Given the description of an element on the screen output the (x, y) to click on. 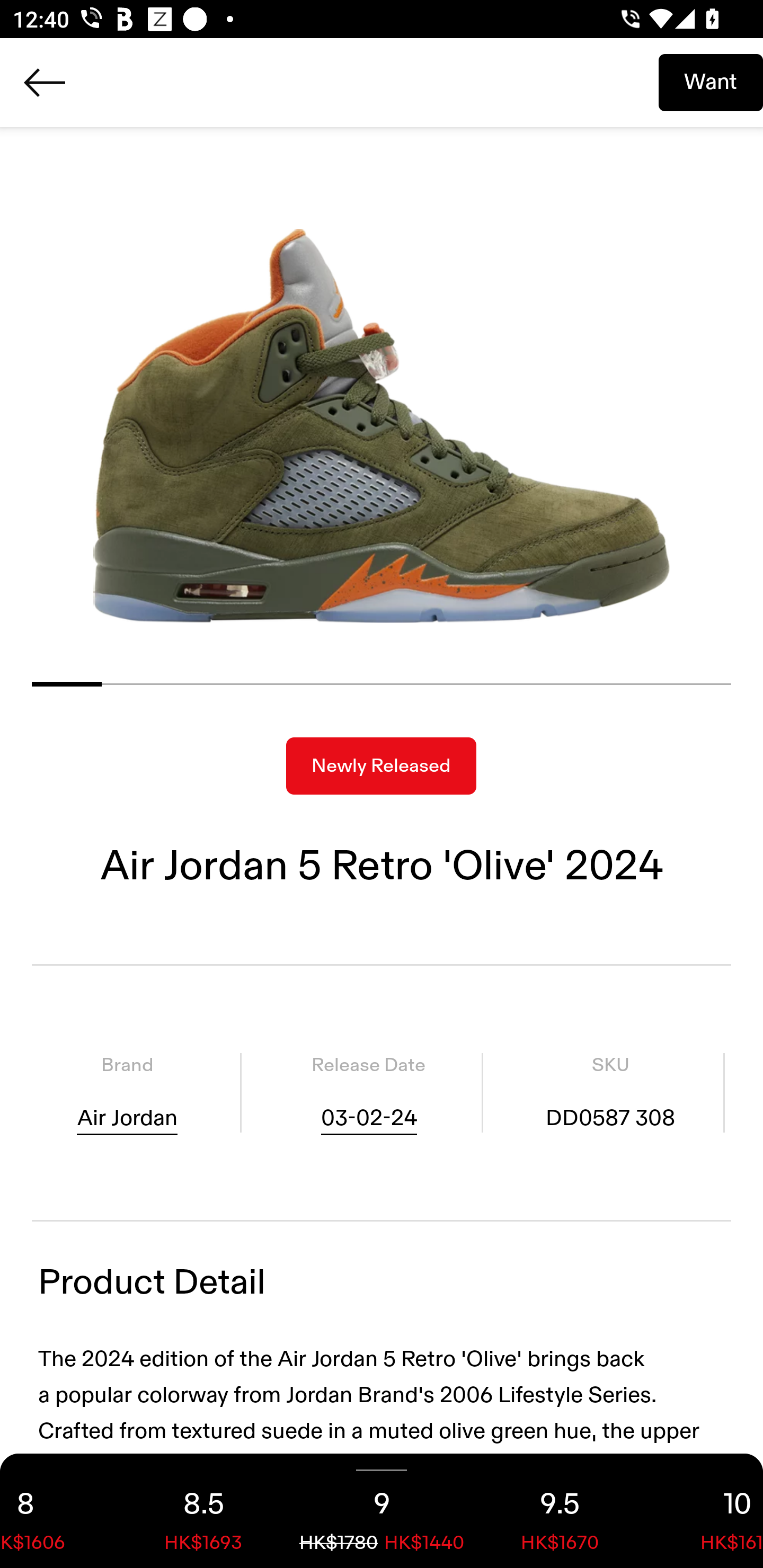
Want (710, 82)
Newly Released (381, 765)
Brand Air Jordan (126, 1092)
Release Date 03-02-24 (368, 1092)
SKU DD0587 308 (609, 1092)
8 HK$1606 (57, 1510)
8.5 HK$1693 (203, 1510)
9 HK$1780 HK$1440 (381, 1510)
9.5 HK$1670 (559, 1510)
10 HK$1614 (705, 1510)
